Given the description of an element on the screen output the (x, y) to click on. 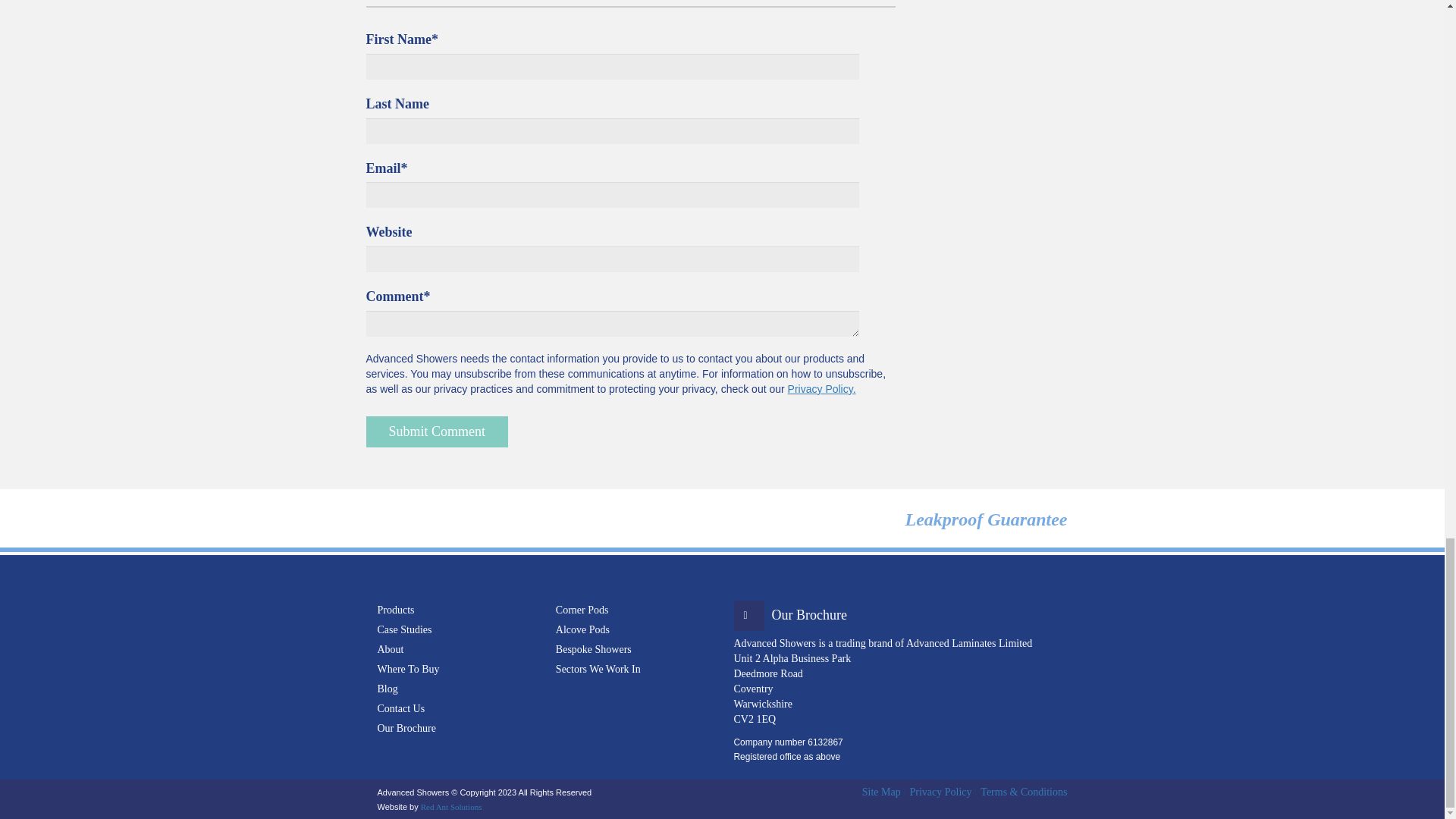
Submit Comment (436, 431)
Privacy Policy. (821, 388)
Submit Comment (436, 431)
